Given the description of an element on the screen output the (x, y) to click on. 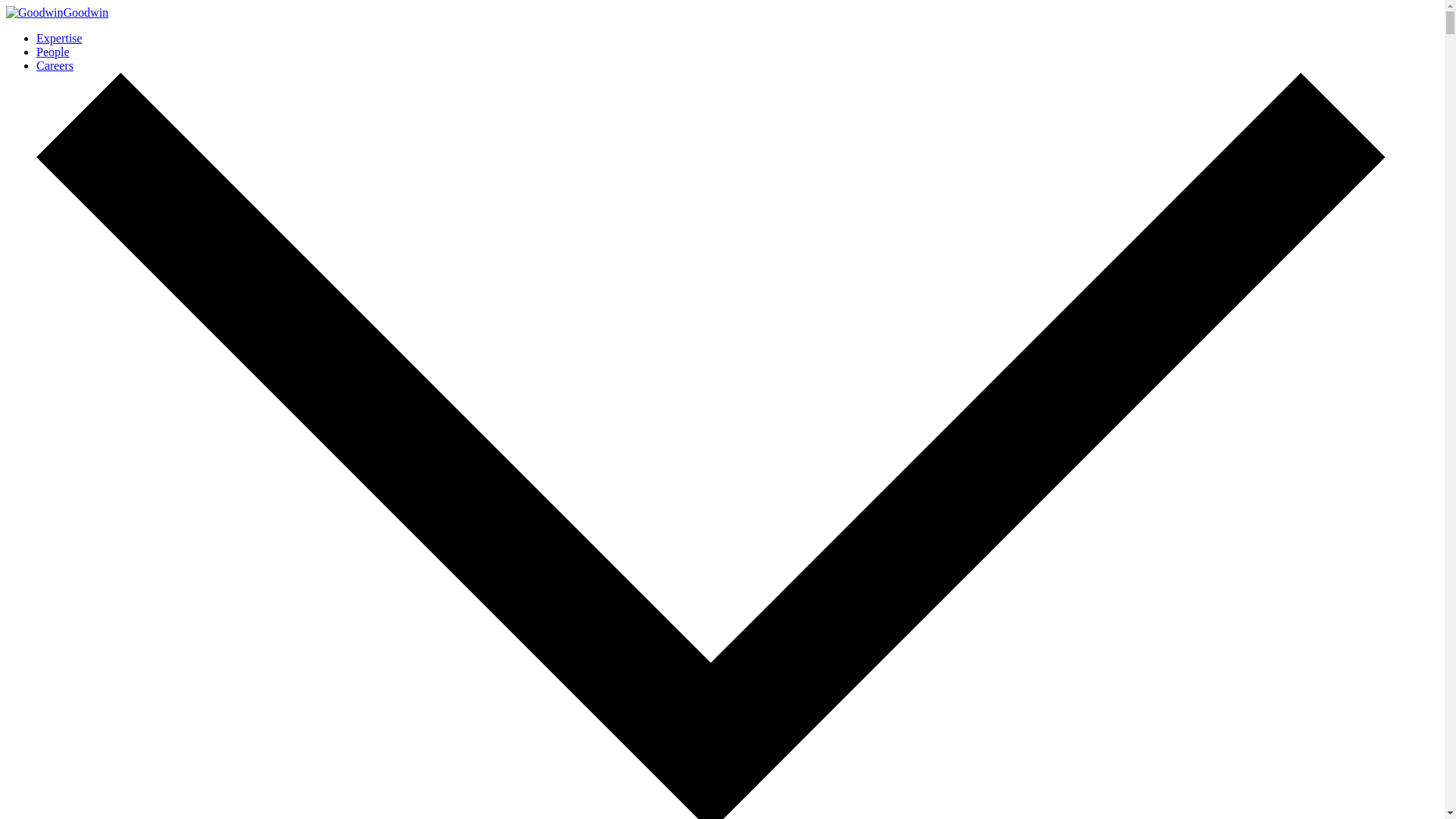
People (52, 51)
Goodwin (56, 11)
Expertise (58, 38)
